Given the description of an element on the screen output the (x, y) to click on. 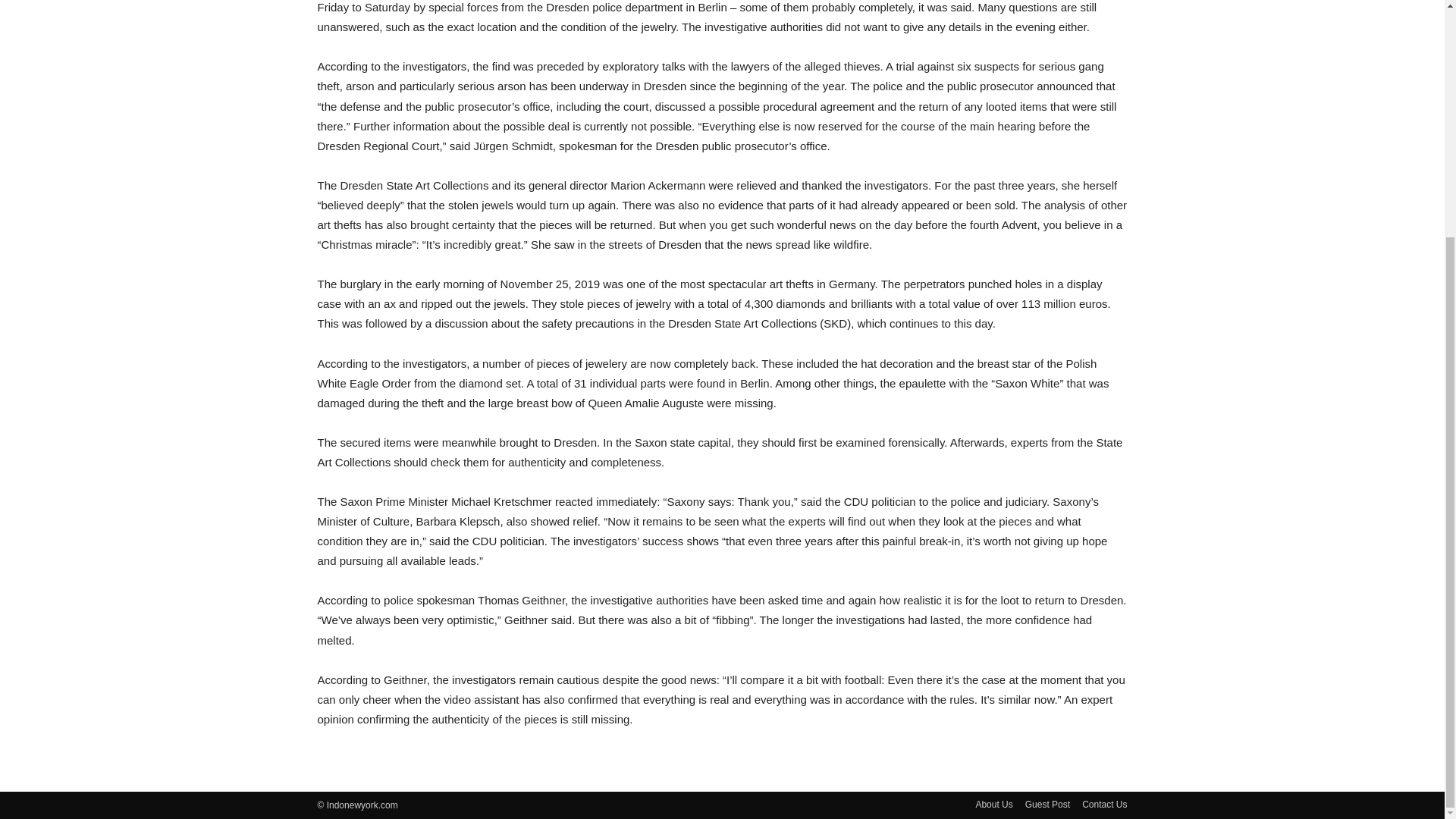
Guest Post (1047, 804)
About Us (993, 804)
Contact Us (1103, 804)
